Given the description of an element on the screen output the (x, y) to click on. 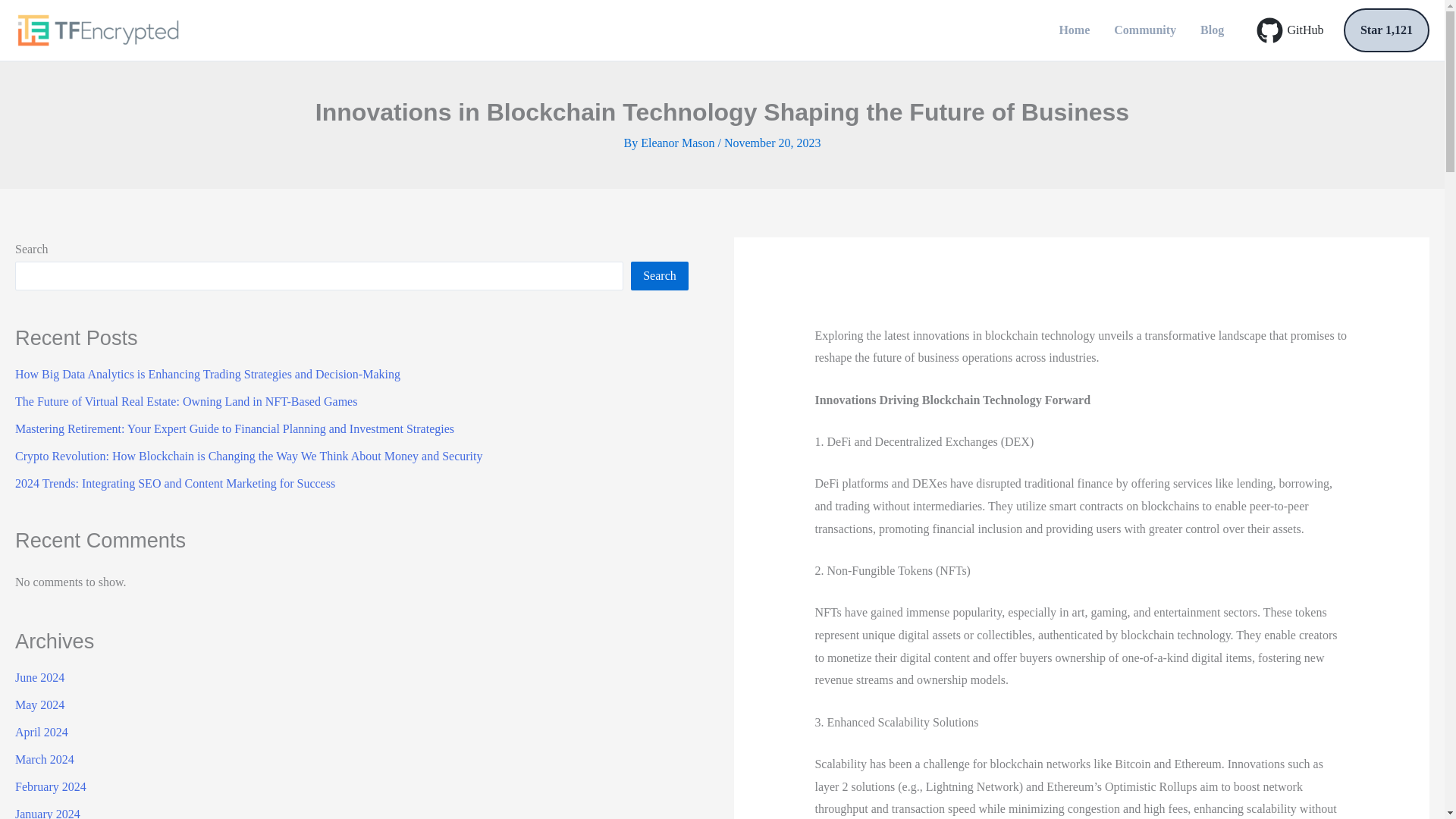
March 2024 (44, 758)
April 2024 (41, 731)
May 2024 (39, 704)
February 2024 (49, 786)
Eleanor Mason (678, 142)
Star 1,121 (1386, 30)
Community (1145, 30)
Search (659, 275)
Home (1074, 30)
GitHub (1288, 29)
